Given the description of an element on the screen output the (x, y) to click on. 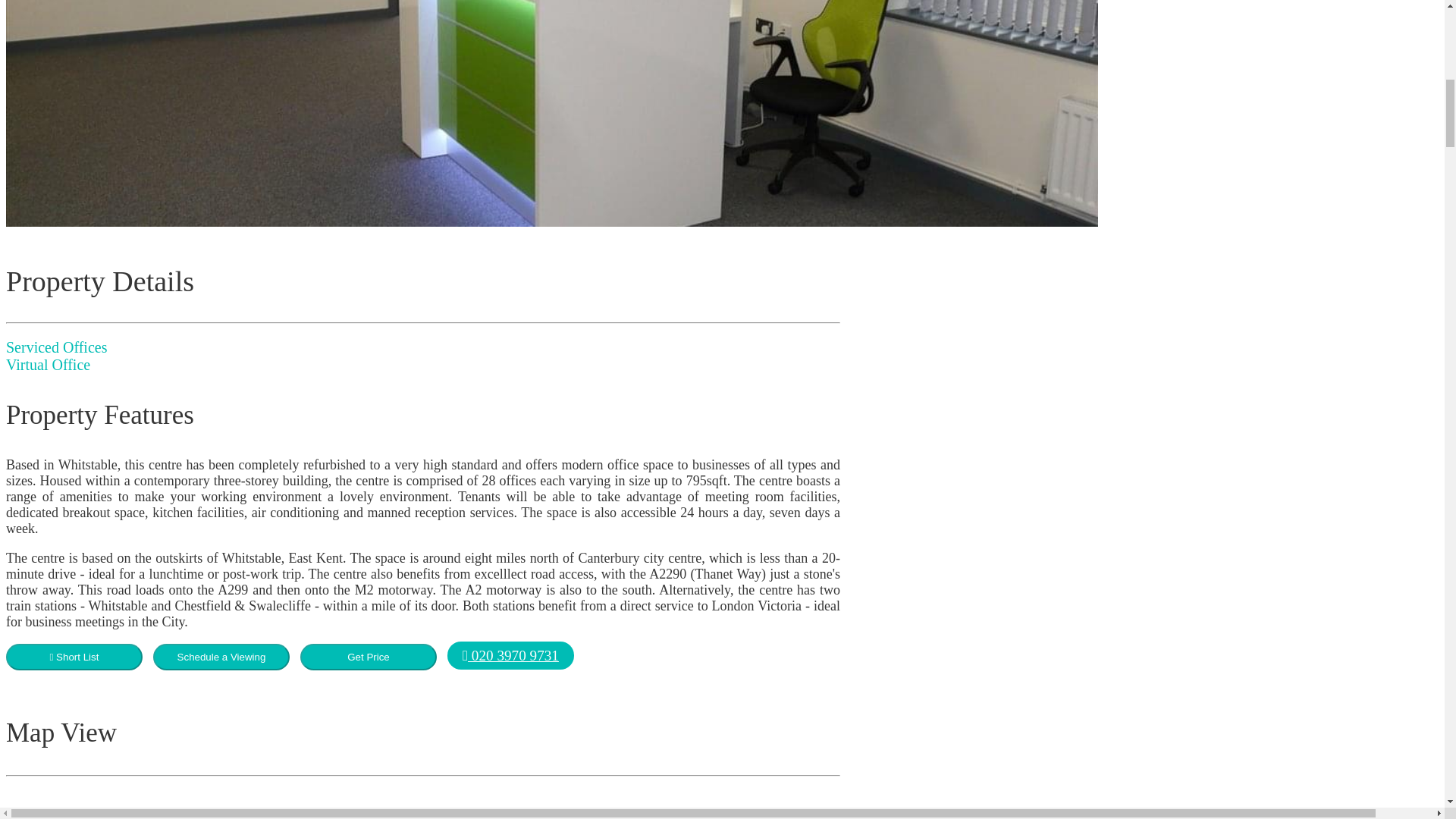
020 3970 9731 (509, 655)
Short List (73, 656)
Schedule a Viewing (220, 656)
Get Price (367, 656)
